Given the description of an element on the screen output the (x, y) to click on. 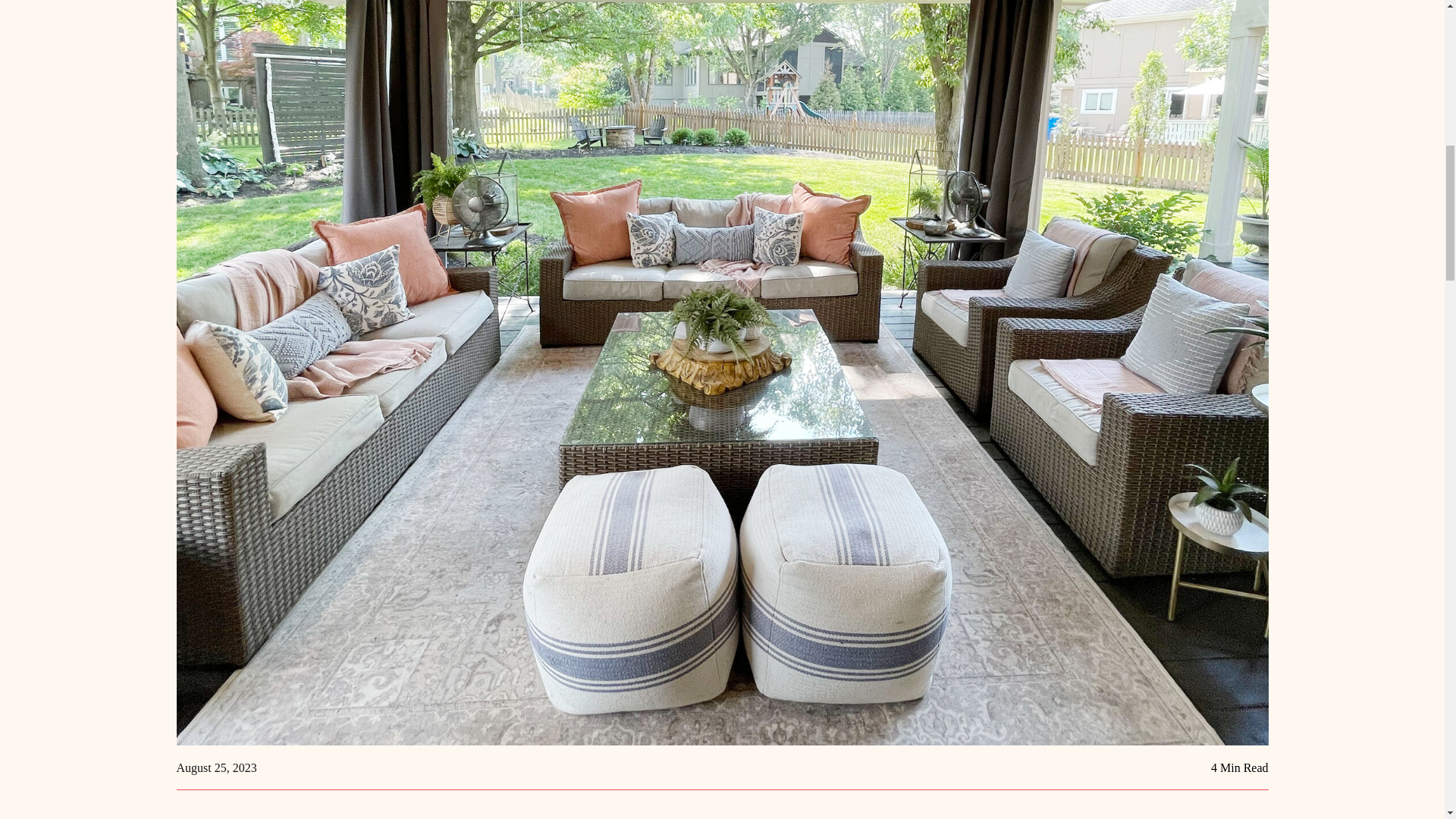
August 25, 2023 (216, 767)
